Given the description of an element on the screen output the (x, y) to click on. 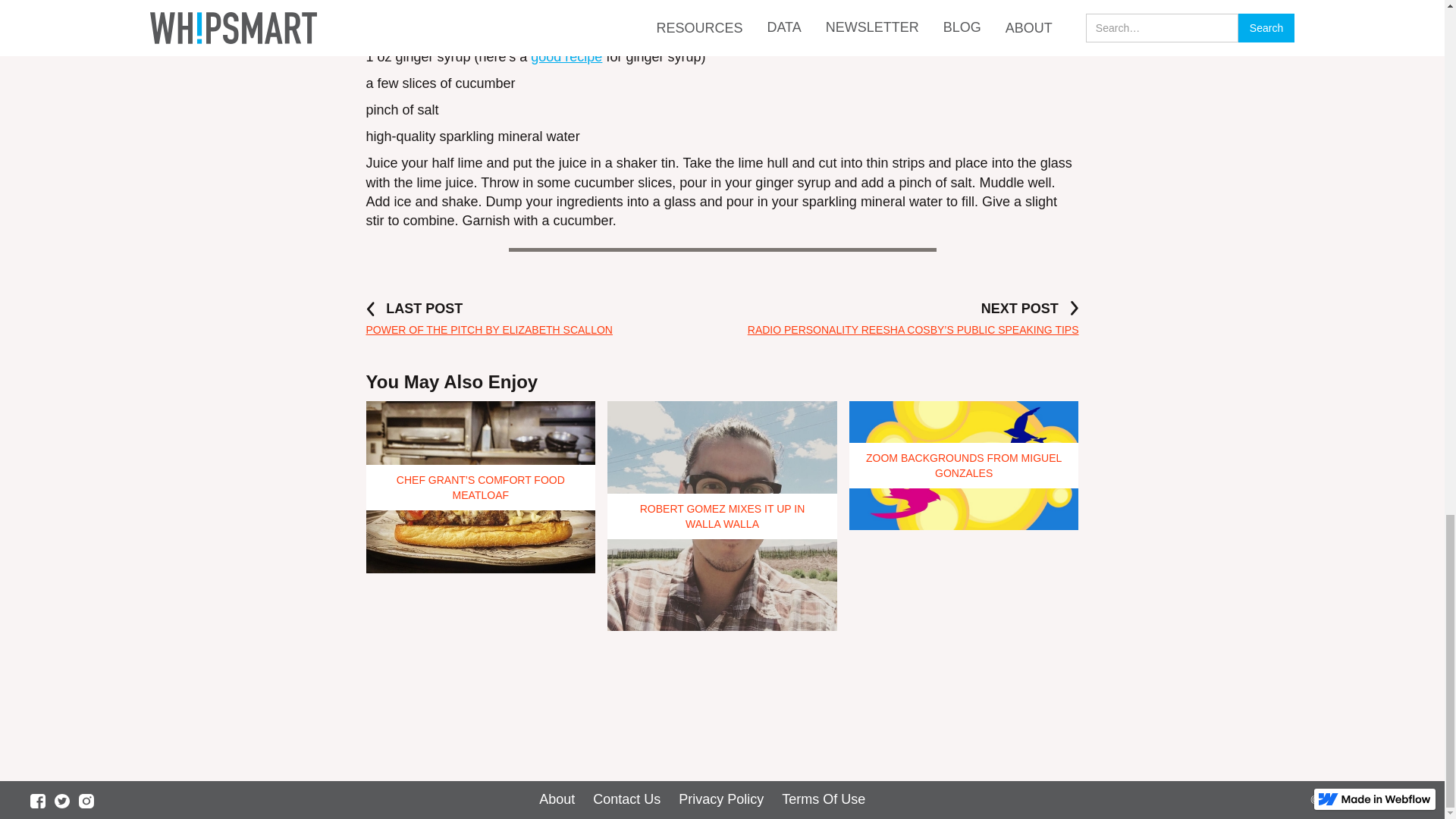
POWER OF THE PITCH BY ELIZABETH SCALLON (488, 329)
good recipe (566, 56)
